Given the description of an element on the screen output the (x, y) to click on. 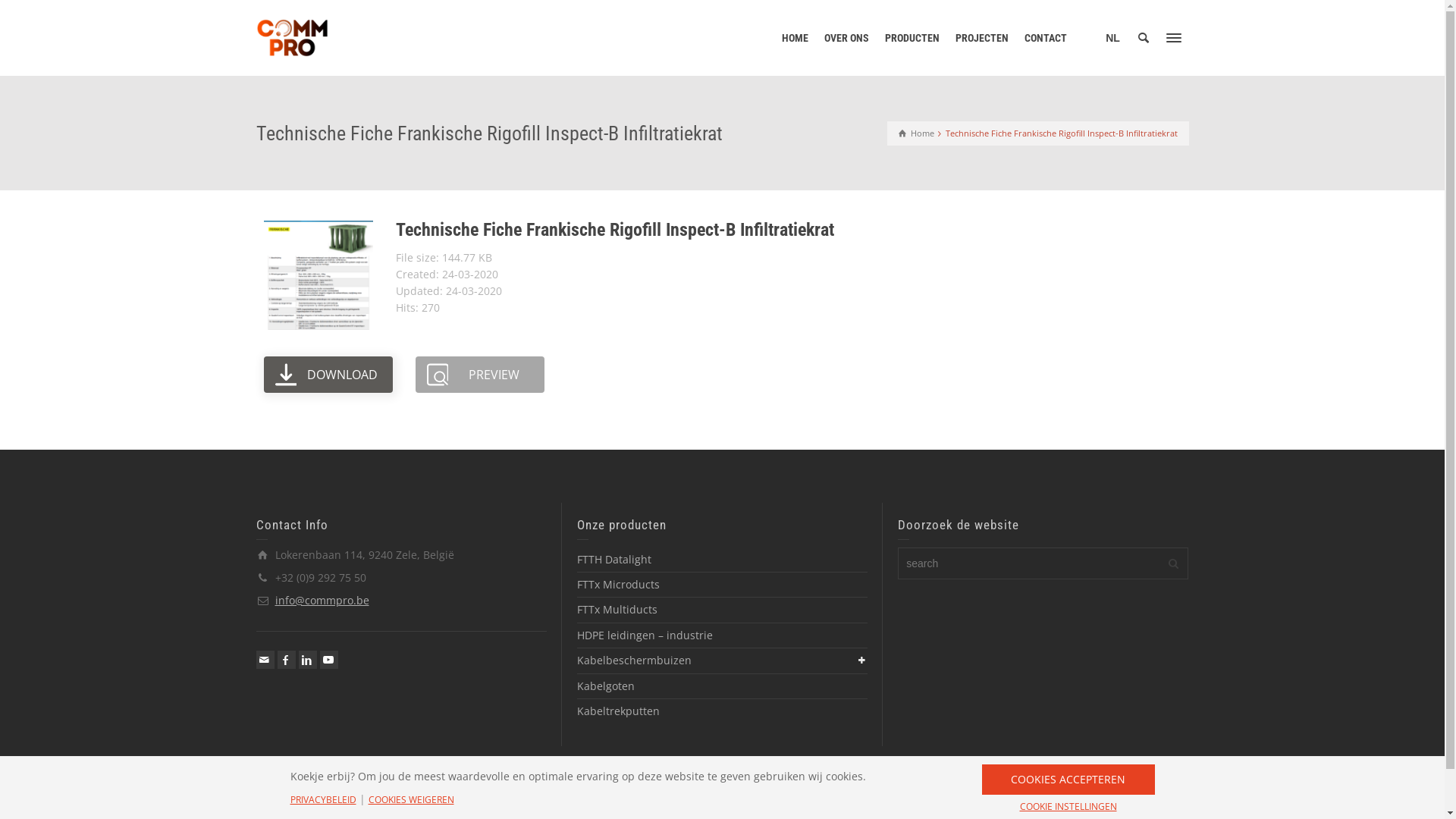
COOKIES WEIGEREN Element type: text (411, 799)
FTTx Multiducts Element type: text (617, 609)
PROJECTEN Element type: text (981, 37)
PRIVACYBELEID Element type: text (322, 799)
Commpro Element type: hover (292, 36)
OVER ONS Element type: text (845, 37)
Search Element type: hover (1143, 37)
CONTACT Element type: text (1045, 37)
info@commpro.be Element type: text (321, 600)
Email Element type: hover (265, 659)
NL Element type: text (1113, 37)
Kabelgoten Element type: text (605, 685)
COOKIE INSTELLINGEN Element type: text (1067, 806)
COOKIES ACCEPTEREN Element type: text (1067, 779)
PREVIEW Element type: text (479, 374)
FTTx Microducts Element type: text (618, 584)
Facebook Element type: hover (286, 659)
FTTH Datalight Element type: text (614, 559)
Home Element type: text (916, 132)
DOWNLOAD Element type: text (327, 374)
Linkedin Element type: hover (307, 659)
Kabeltrekputten Element type: text (618, 710)
YouTube Element type: hover (329, 659)
HOME Element type: text (794, 37)
PRODUCTEN Element type: text (911, 37)
Kabelbeschermbuizen Element type: text (634, 659)
